Given the description of an element on the screen output the (x, y) to click on. 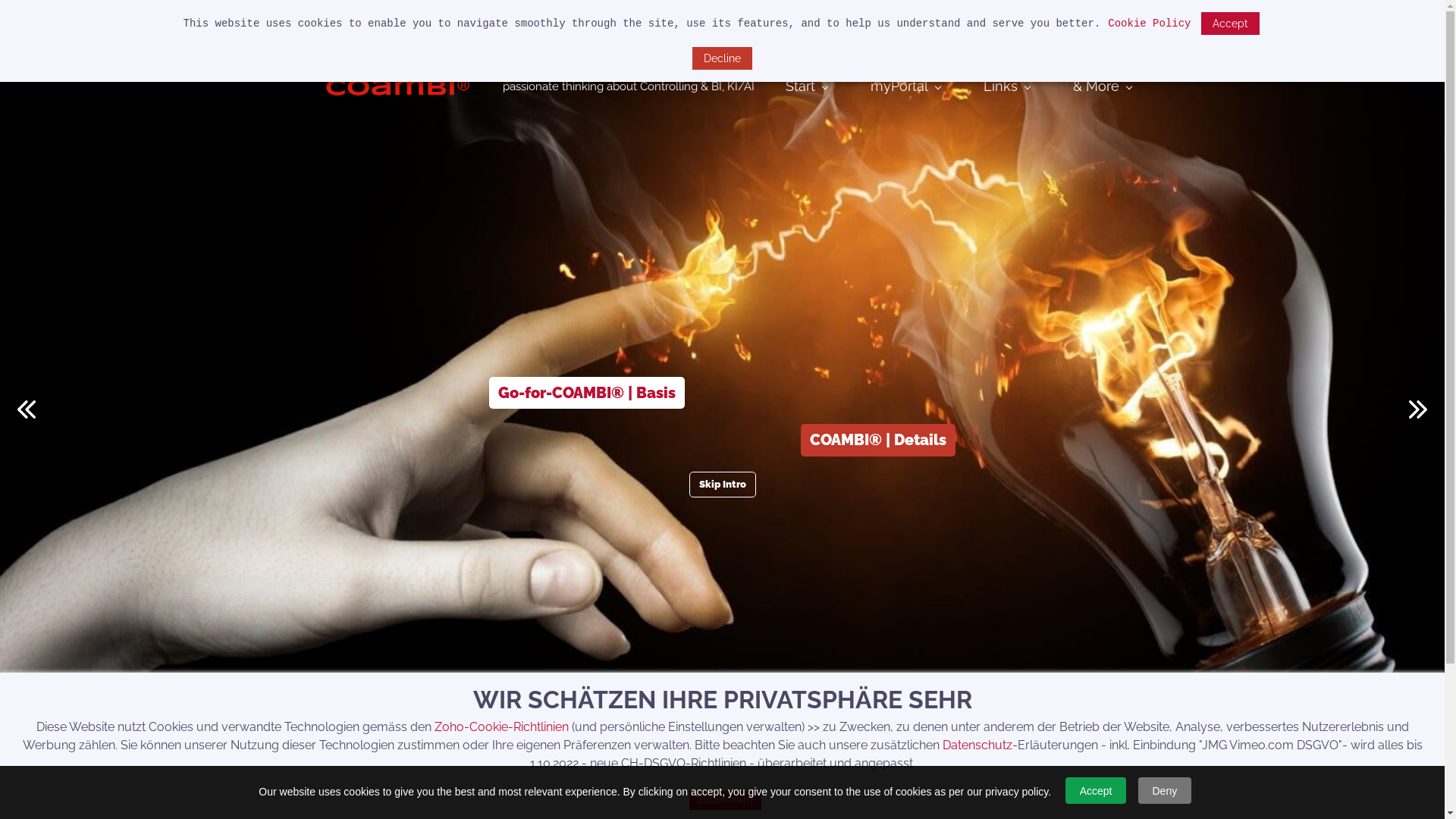
af@alexanderfrutiger.ch Element type: text (363, 19)
Registrieren Element type: text (1115, 19)
Zoho-Cookie-Richtlinien Element type: text (500, 726)
Cookie Policy Element type: text (1149, 23)
Start Element type: text (806, 85)
Accept Element type: text (1230, 23)
+41 79 400 10 16 Element type: text (488, 19)
Skip Intro Element type: text (721, 484)
& More Element type: text (1101, 85)
myPortal Element type: text (905, 85)
Datenschutz Element type: text (976, 744)
Anmelden Element type: text (1046, 19)
Links Element type: text (1005, 85)
Zustimmen? Element type: text (725, 799)
Decline Element type: text (722, 58)
